Given the description of an element on the screen output the (x, y) to click on. 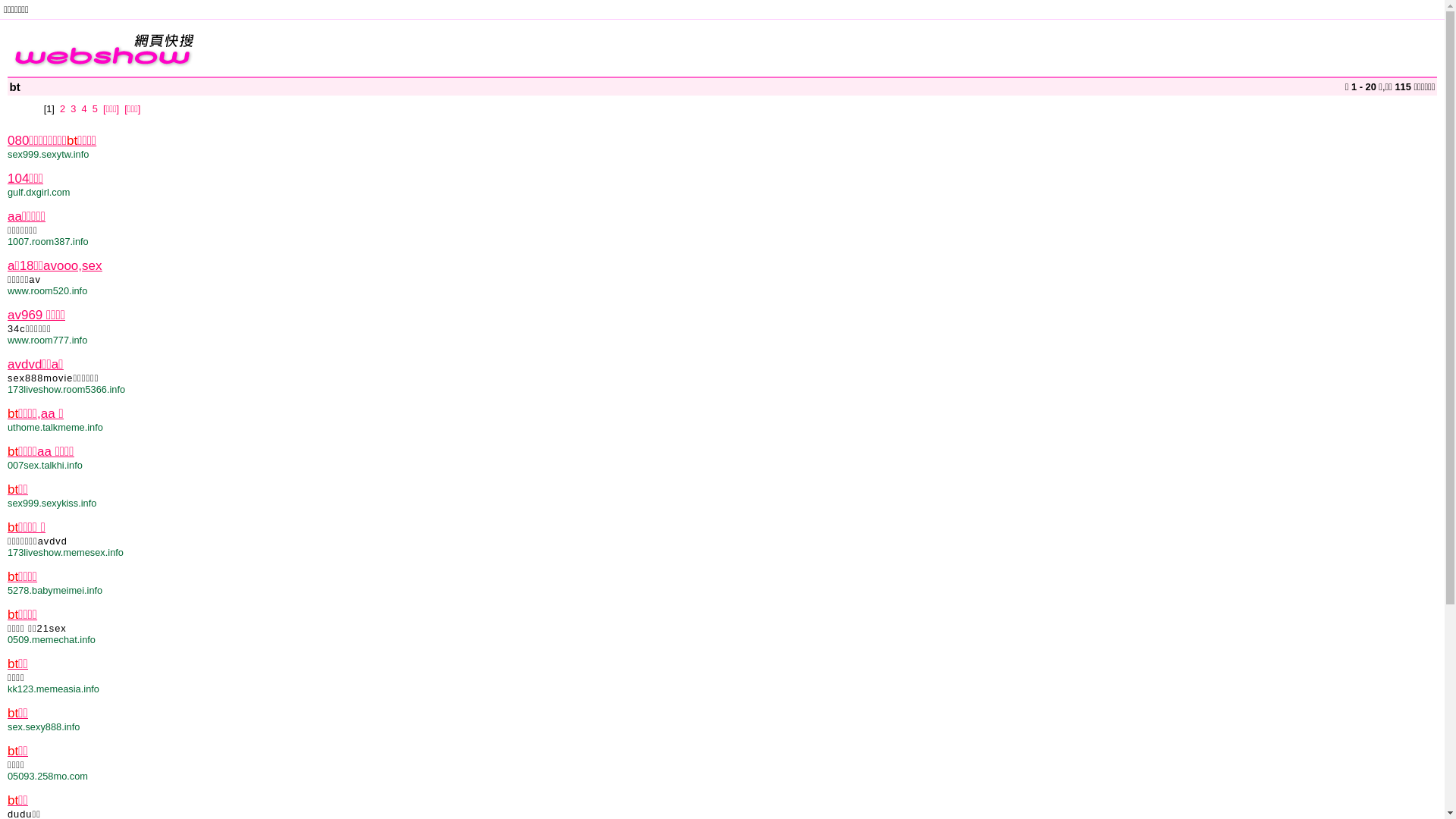
5 Element type: text (94, 108)
4 Element type: text (83, 108)
2 Element type: text (62, 108)
3 Element type: text (72, 108)
